Given the description of an element on the screen output the (x, y) to click on. 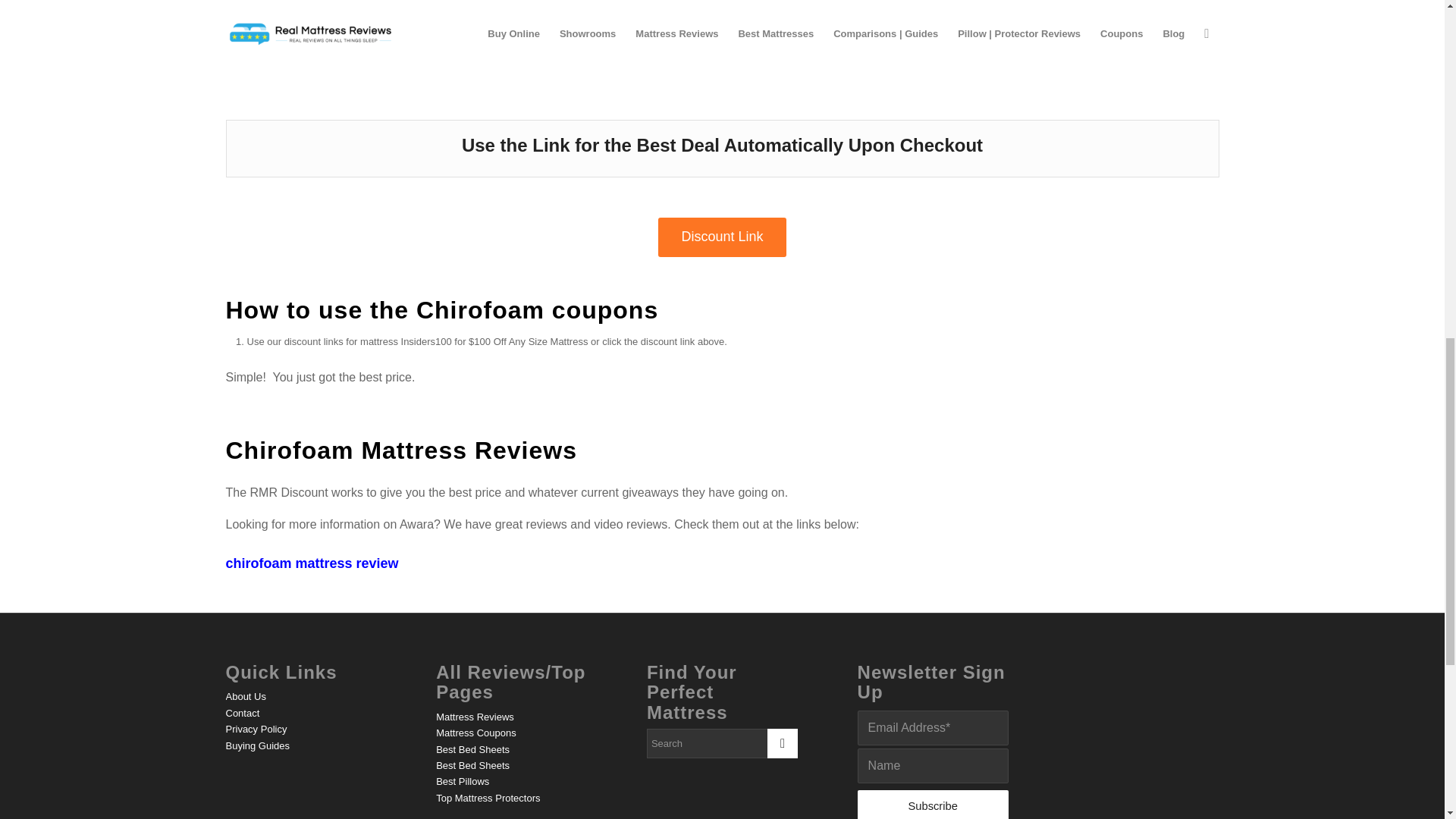
Subscribe (933, 804)
